Given the description of an element on the screen output the (x, y) to click on. 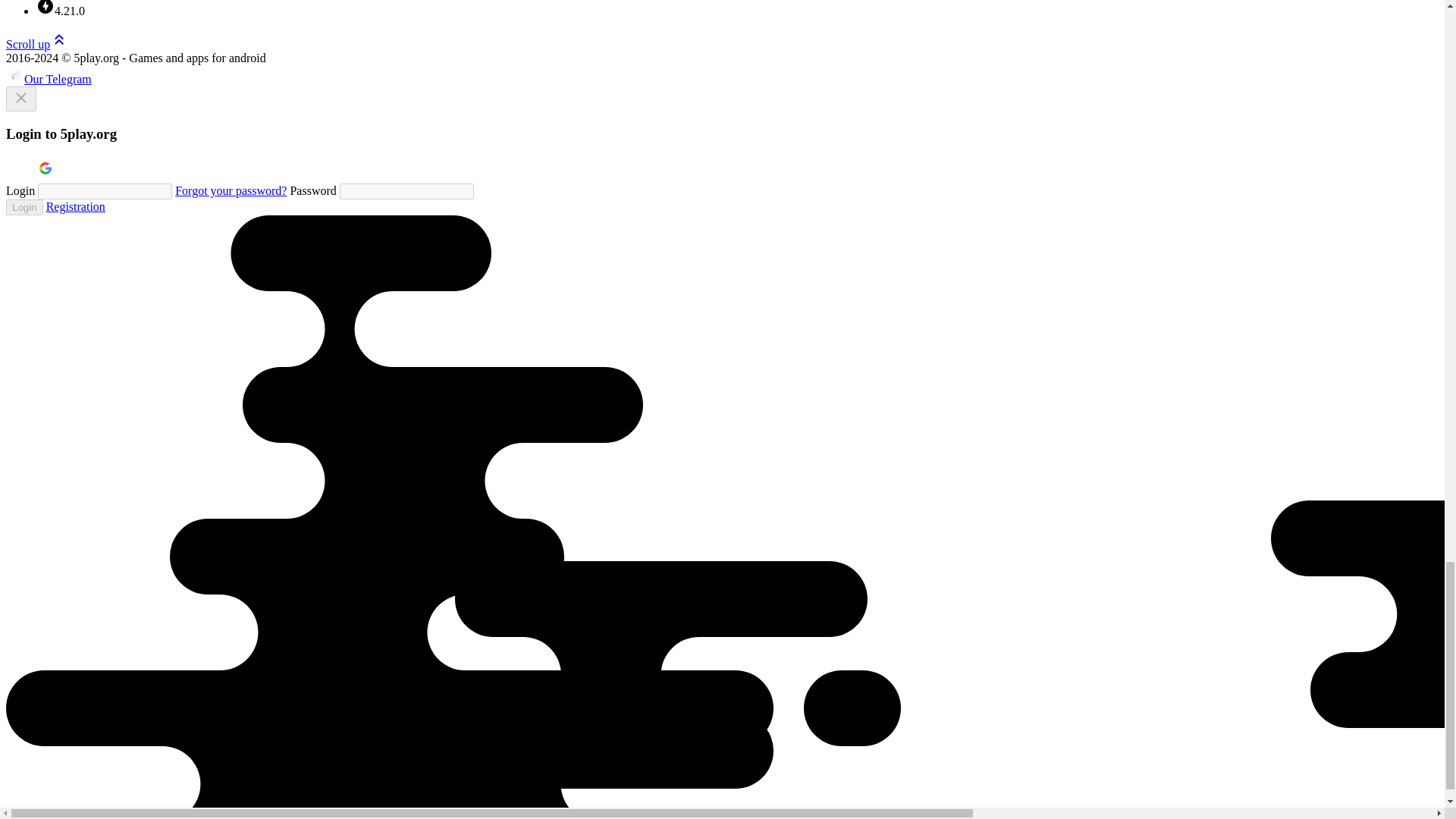
Scroll up (36, 43)
